Given the description of an element on the screen output the (x, y) to click on. 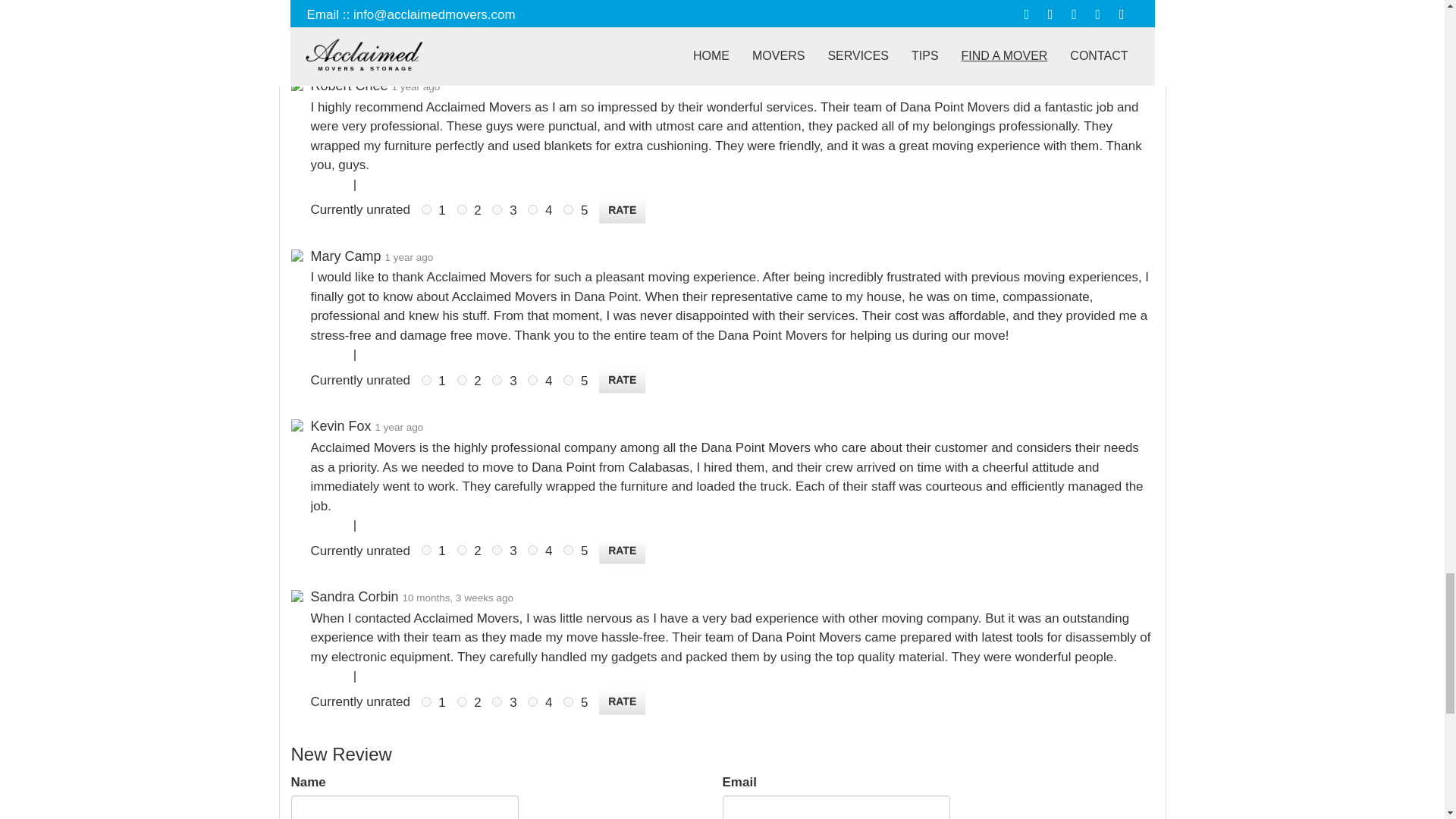
3 (491, 39)
5 (562, 39)
2 (461, 209)
Rate (615, 39)
Rate (621, 210)
4 (526, 39)
3 (497, 209)
4 (532, 209)
2 (454, 39)
1 (426, 209)
1 (419, 39)
5 (568, 209)
